Given the description of an element on the screen output the (x, y) to click on. 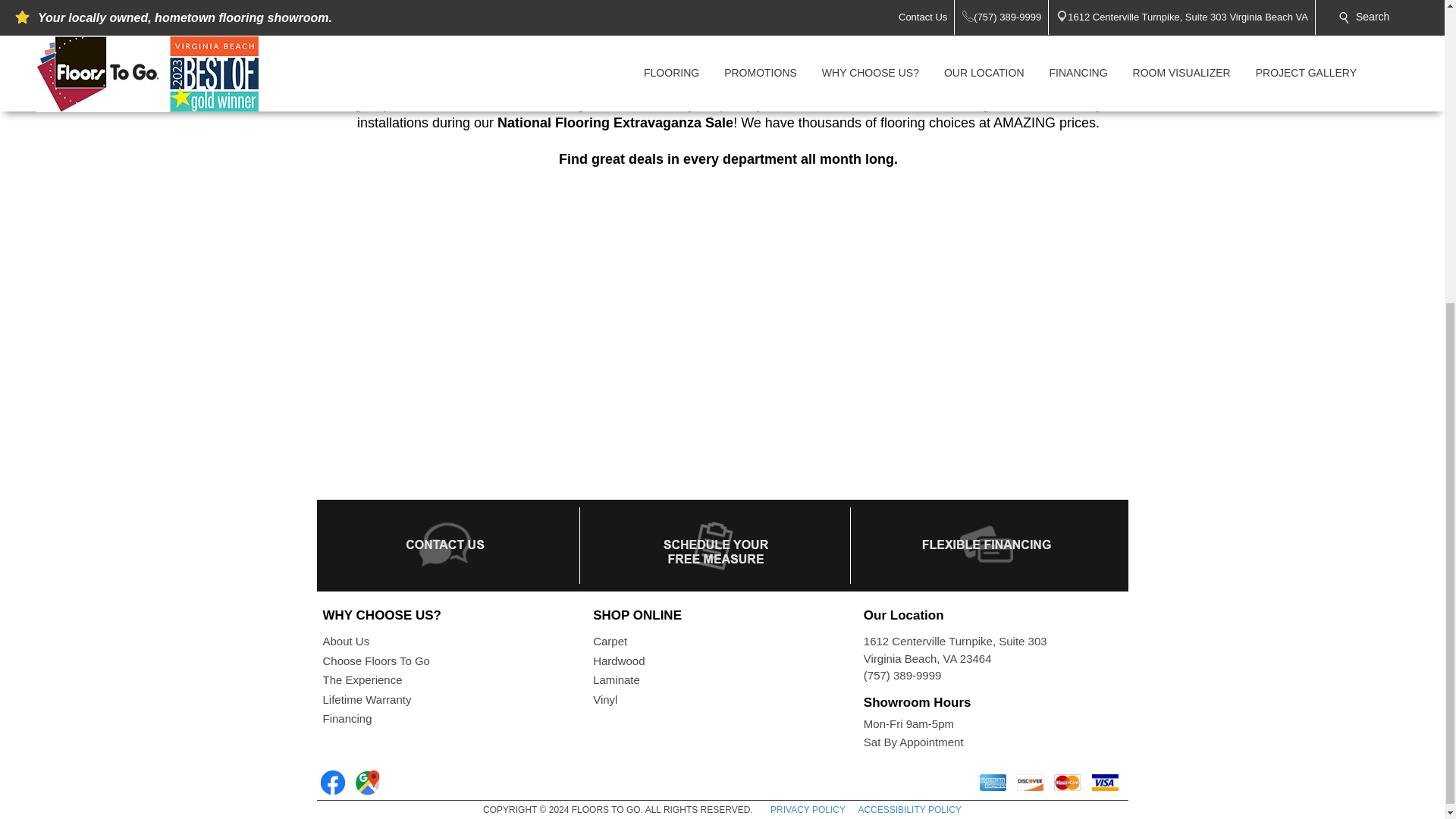
Facebook (331, 782)
Google (367, 782)
